Given the description of an element on the screen output the (x, y) to click on. 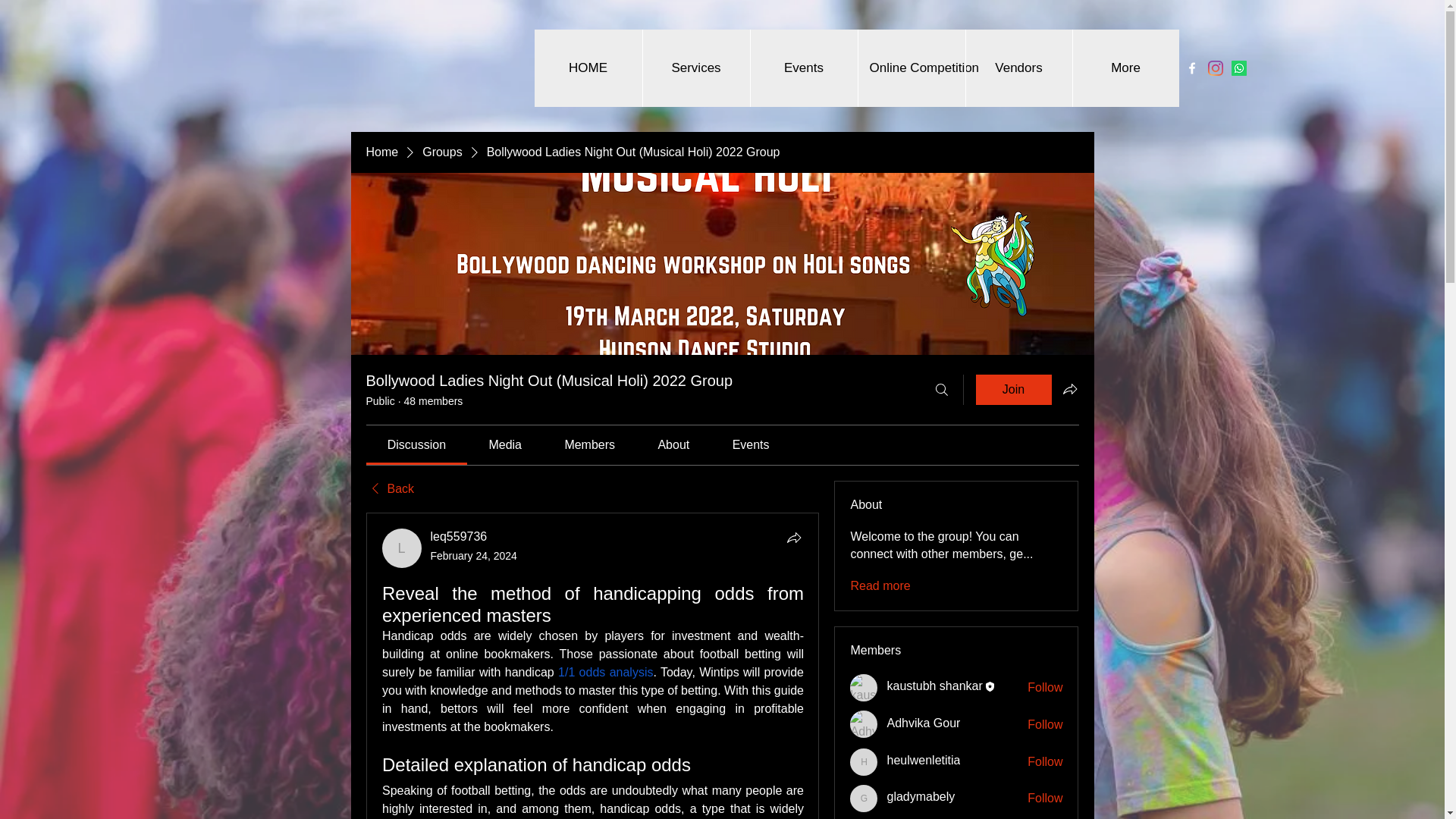
Adhvika Gour (863, 723)
kaustubh shankar (863, 687)
HOME (588, 68)
Events (803, 68)
Groups (441, 152)
Follow (1044, 761)
Follow (1044, 687)
Services (695, 68)
kaustubh shankar (933, 685)
Vendors (1017, 68)
heulwenletitia (863, 761)
leq559736 (401, 548)
gladymabely (863, 798)
leq559736 (458, 535)
Online Competition (910, 68)
